Given the description of an element on the screen output the (x, y) to click on. 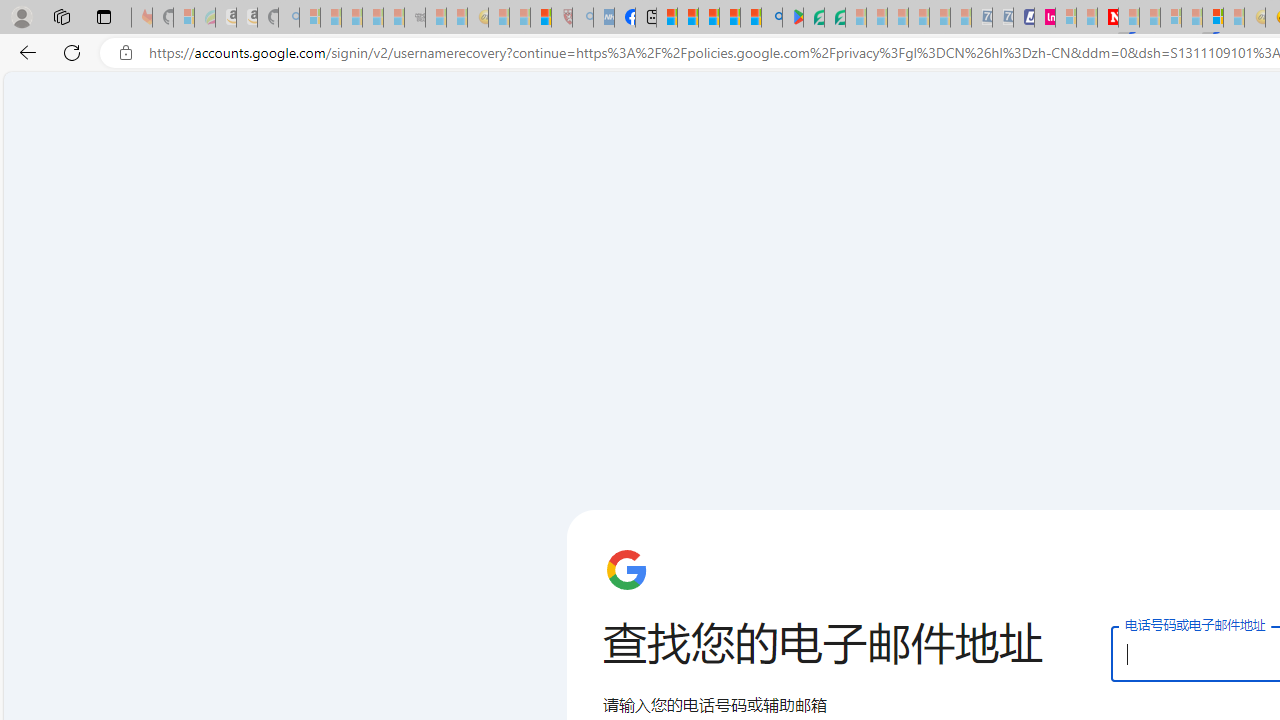
Terms of Use Agreement (813, 17)
